Given the description of an element on the screen output the (x, y) to click on. 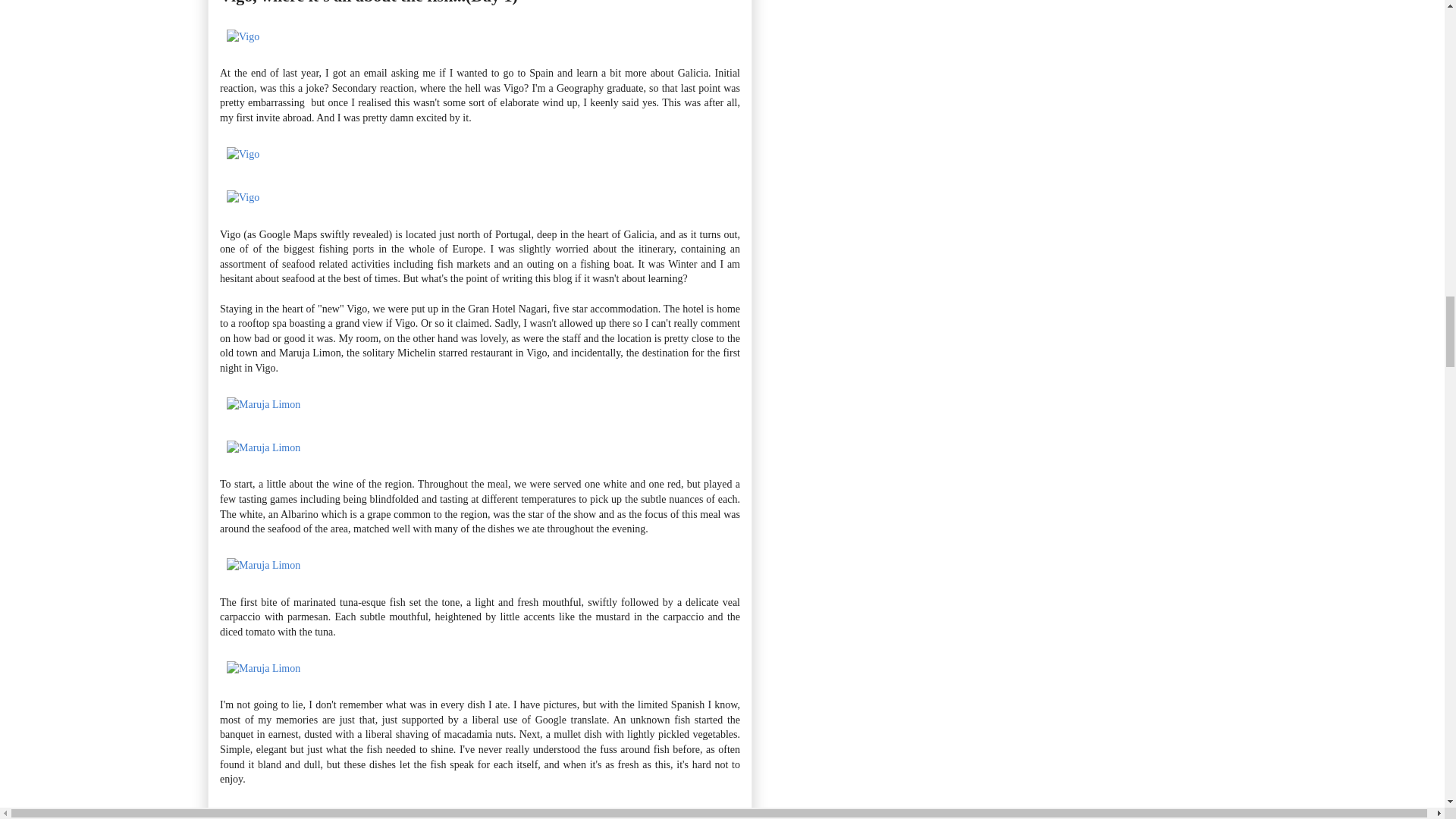
Maruja Limon by tehbus, on Flickr (263, 404)
Maruja Limon by tehbus, on Flickr (263, 668)
Vigo by tehbus, on Flickr (242, 197)
Maruja Limon by tehbus, on Flickr (263, 564)
Vigo by tehbus, on Flickr (242, 153)
Vigo by tehbus, on Flickr (242, 36)
Maruja Limon by tehbus, on Flickr (263, 447)
